Given the description of an element on the screen output the (x, y) to click on. 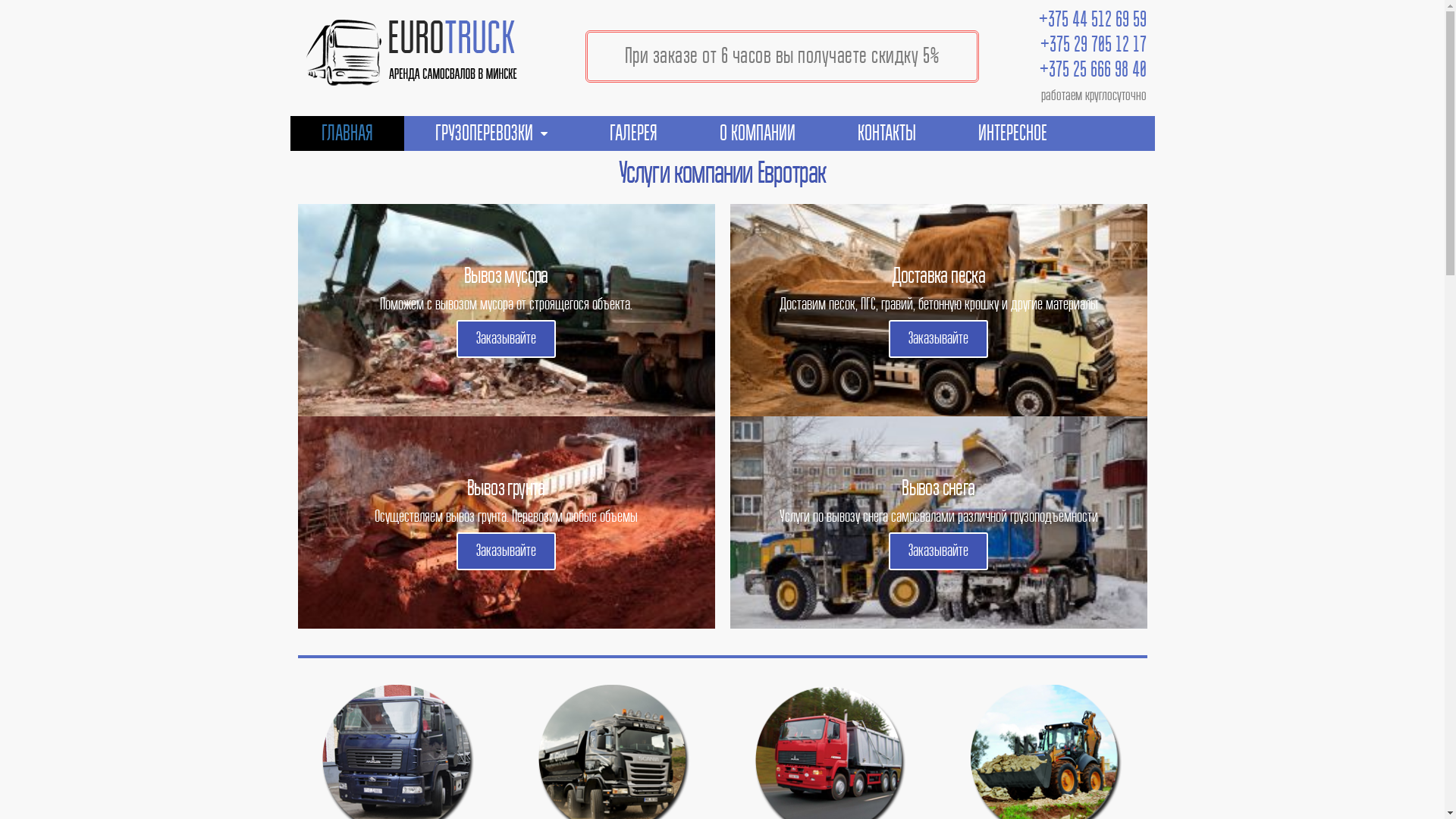
+375 25 666 98 40 Element type: text (1092, 69)
+375 29 705 12 17 Element type: text (1093, 44)
+375 44 512 69 59 Element type: text (1092, 19)
